Given the description of an element on the screen output the (x, y) to click on. 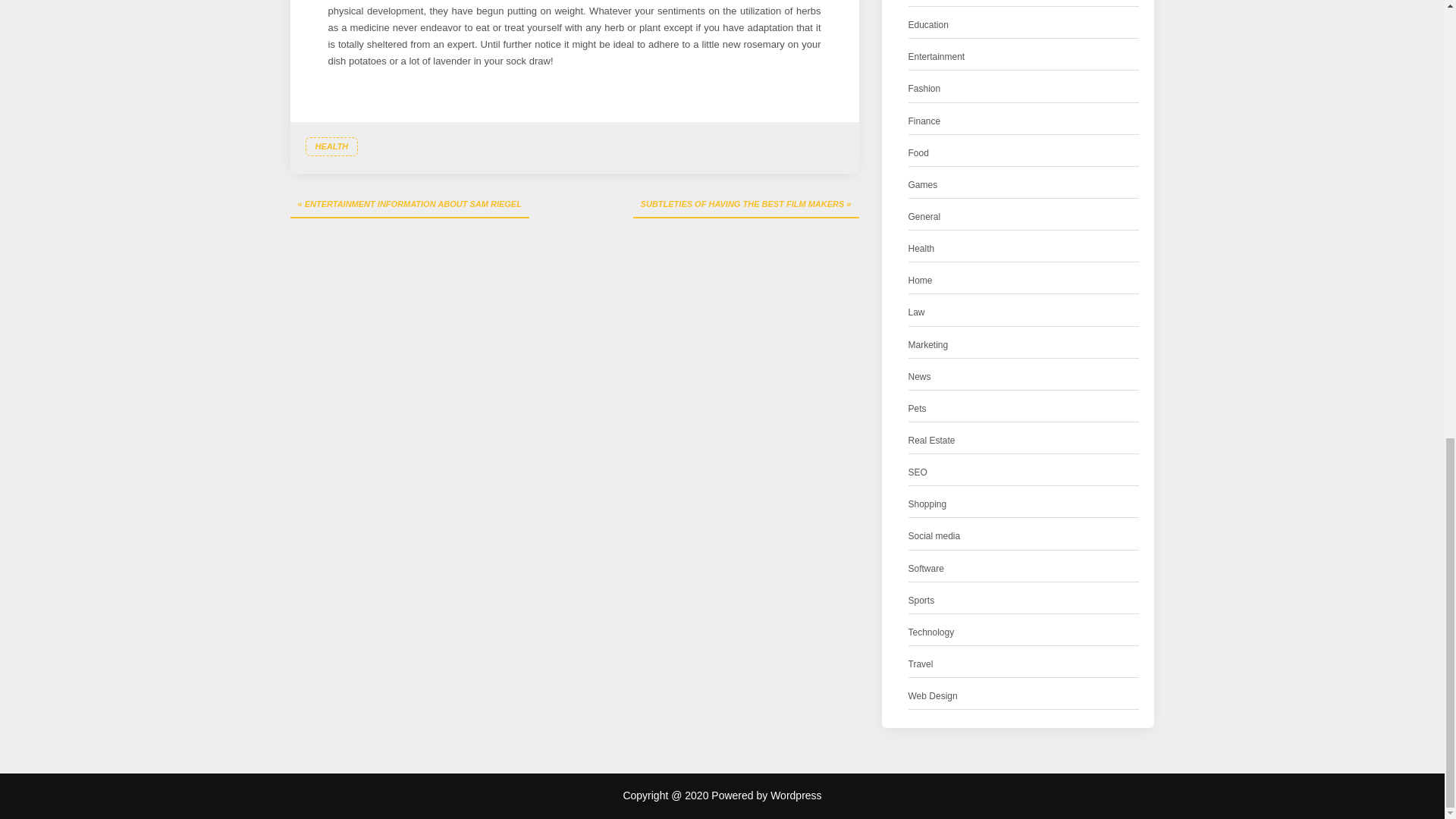
Entertainment (936, 57)
General (924, 217)
News (919, 376)
Food (918, 153)
Games (922, 185)
Finance (924, 121)
Education (928, 25)
SUBTLETIES OF HAVING THE BEST FILM MAKERS (746, 205)
Fashion (924, 89)
Health (921, 248)
Law (916, 312)
HEALTH (331, 146)
ENTERTAINMENT INFORMATION ABOUT SAM RIEGEL (408, 205)
Marketing (928, 344)
Economic (928, 0)
